Given the description of an element on the screen output the (x, y) to click on. 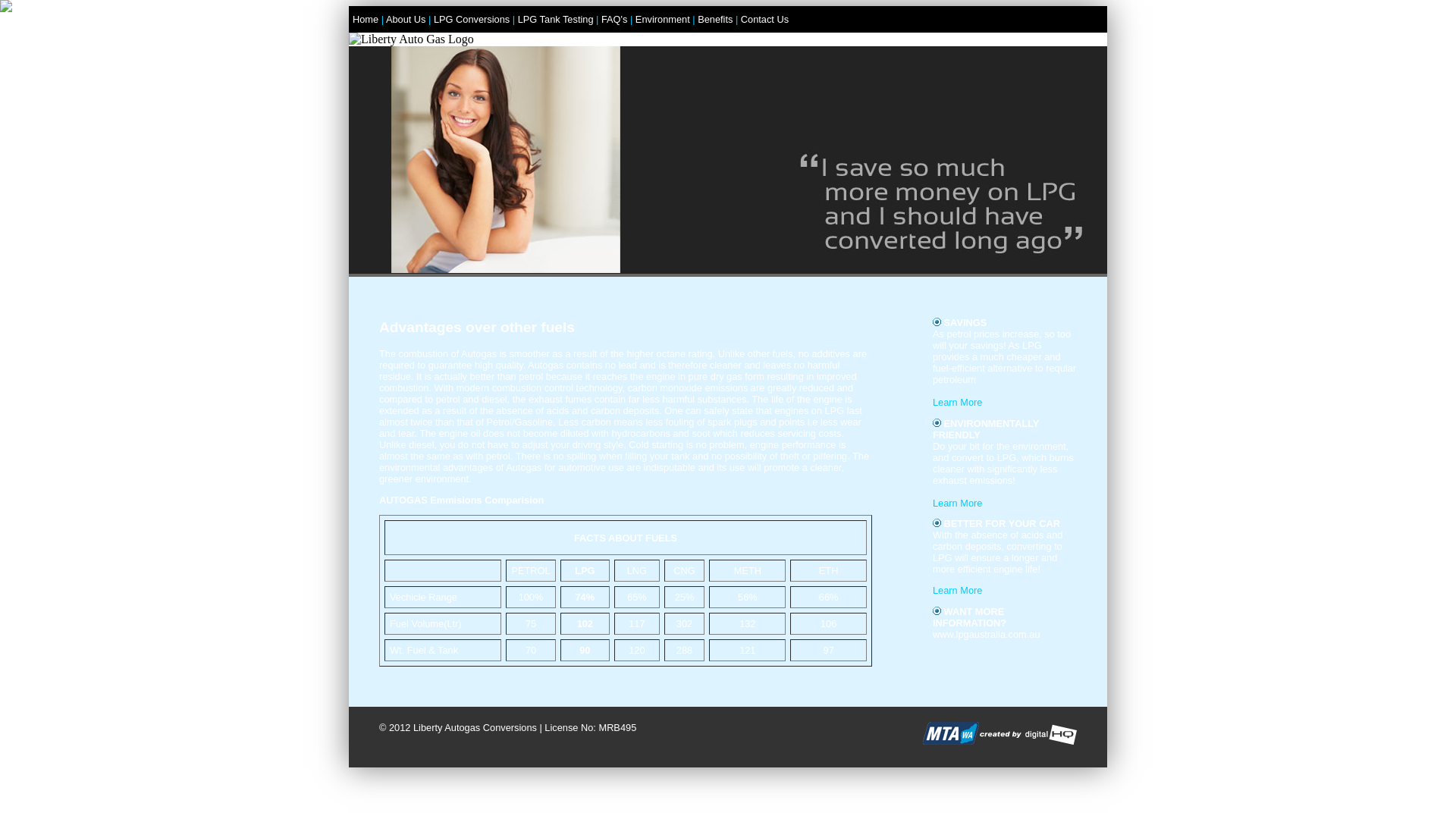
Benefits Element type: text (714, 19)
Home Element type: text (365, 19)
FAQ's Element type: text (614, 19)
LPG Tank Testing Element type: text (555, 19)
Environment Element type: text (662, 19)
Contact Us Element type: text (764, 19)
Learn More Element type: text (957, 590)
Learn More Element type: text (957, 502)
About Us Element type: text (405, 19)
LPG Conversions Element type: text (471, 19)
Learn More Element type: text (957, 401)
